Given the description of an element on the screen output the (x, y) to click on. 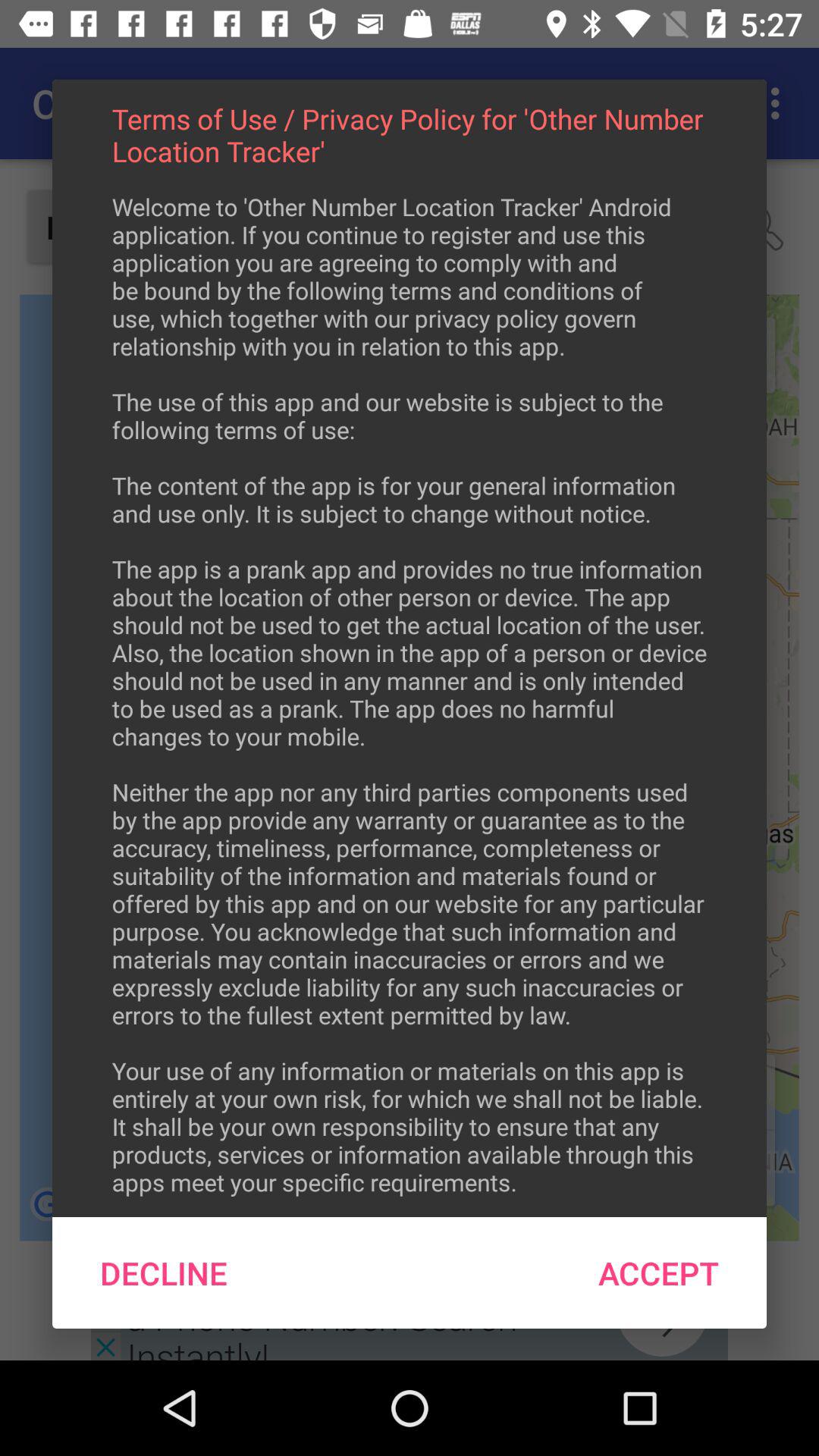
tap item next to accept icon (163, 1272)
